Given the description of an element on the screen output the (x, y) to click on. 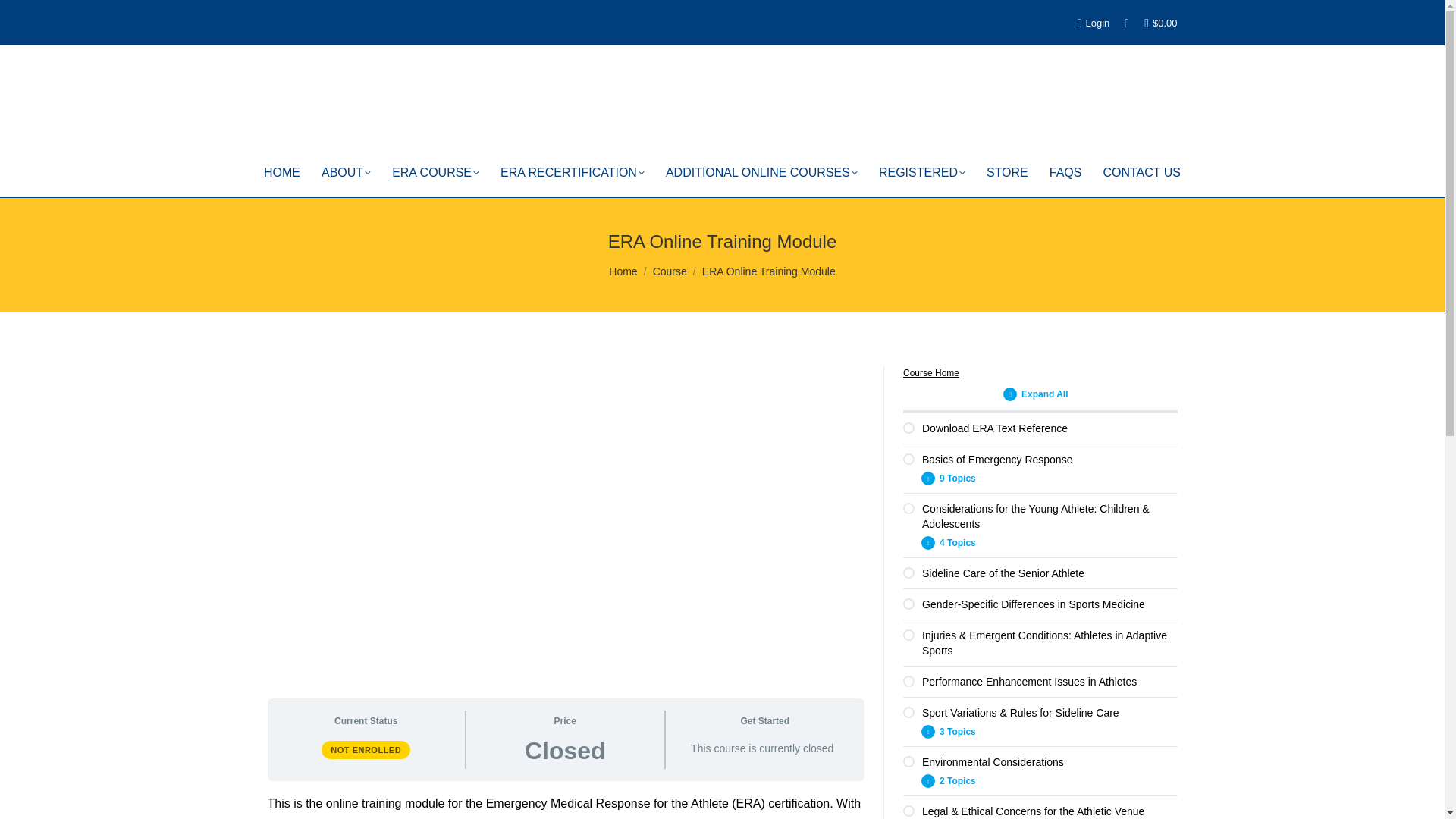
REGISTERED (922, 172)
ABOUT (346, 172)
ADDITIONAL ONLINE COURSES (761, 172)
FAQS (1065, 172)
CONTACT US (1141, 172)
Home (622, 271)
Course (669, 271)
Go! (31, 18)
STORE (1007, 172)
Login (1093, 22)
